Given the description of an element on the screen output the (x, y) to click on. 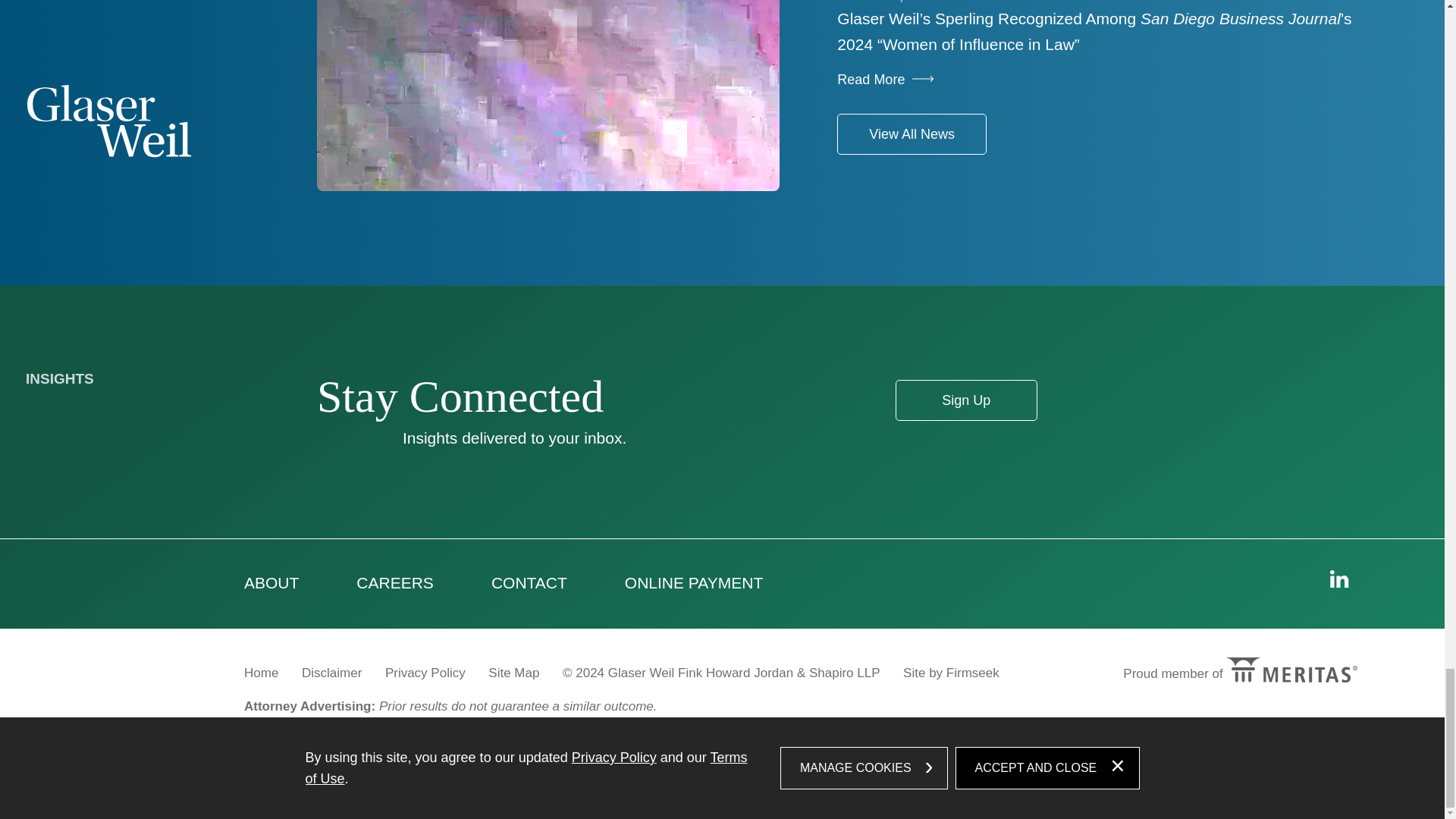
Linkedin (1339, 579)
